Given the description of an element on the screen output the (x, y) to click on. 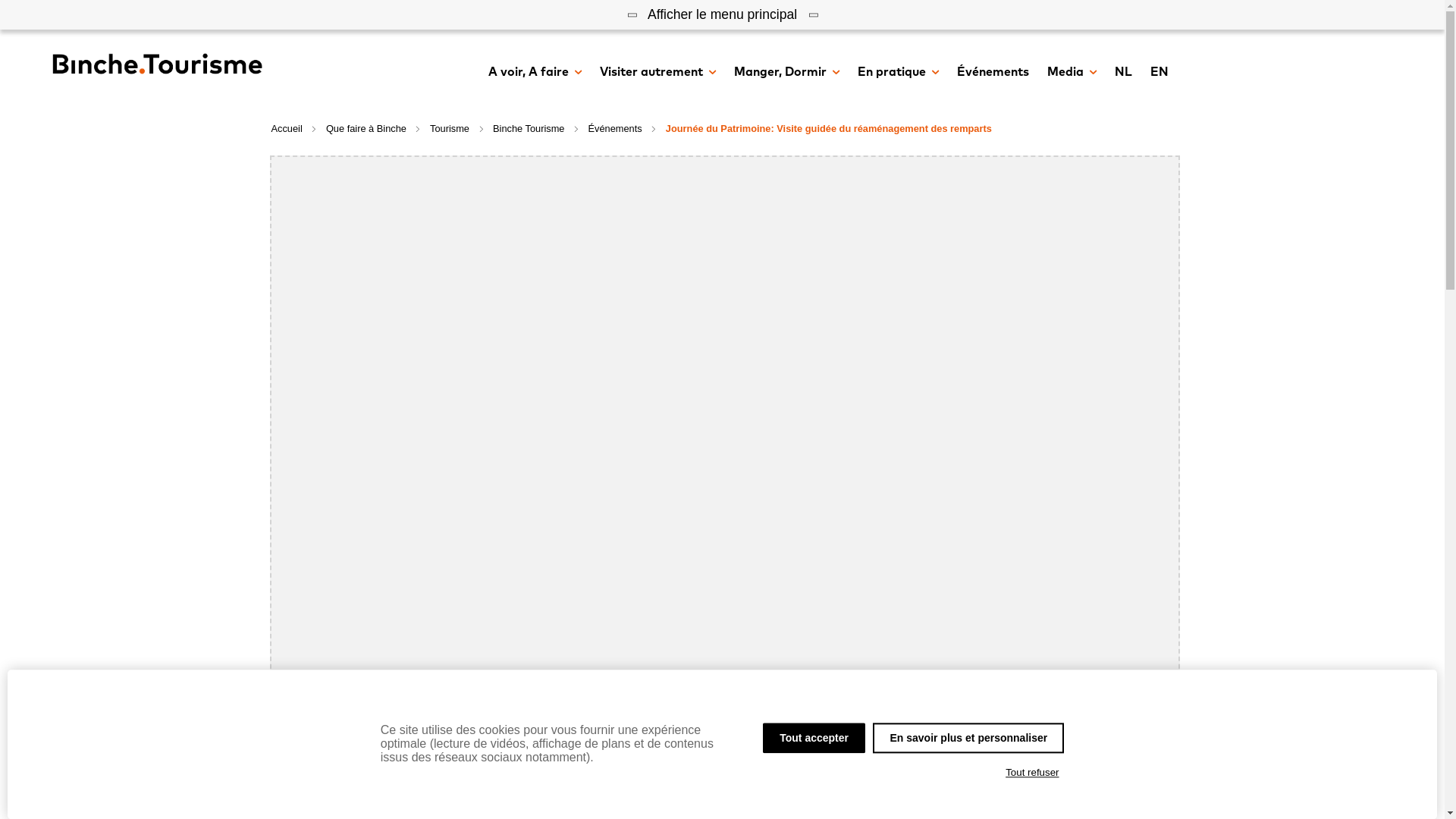
Tout accepter Element type: text (813, 737)
Manger, Dormir Element type: text (786, 72)
Afficher le menu principal Element type: text (722, 14)
Tourisme Element type: text (449, 128)
A voir, A faire Element type: text (534, 72)
EN Element type: text (1158, 72)
Office du tourisme : 5 Grand Place, 7130 7130 - Binche Element type: text (453, 381)
Tout refuser Element type: text (1032, 772)
Binche Tourisme Element type: text (528, 128)
En pratique Element type: text (897, 72)
Visiter autrement Element type: text (656, 72)
NL Element type: text (1123, 72)
Office du tourisme Element type: text (405, 354)
Media Element type: text (1070, 72)
Accueil Element type: text (286, 128)
En savoir plus et personnaliser Element type: text (967, 737)
